Given the description of an element on the screen output the (x, y) to click on. 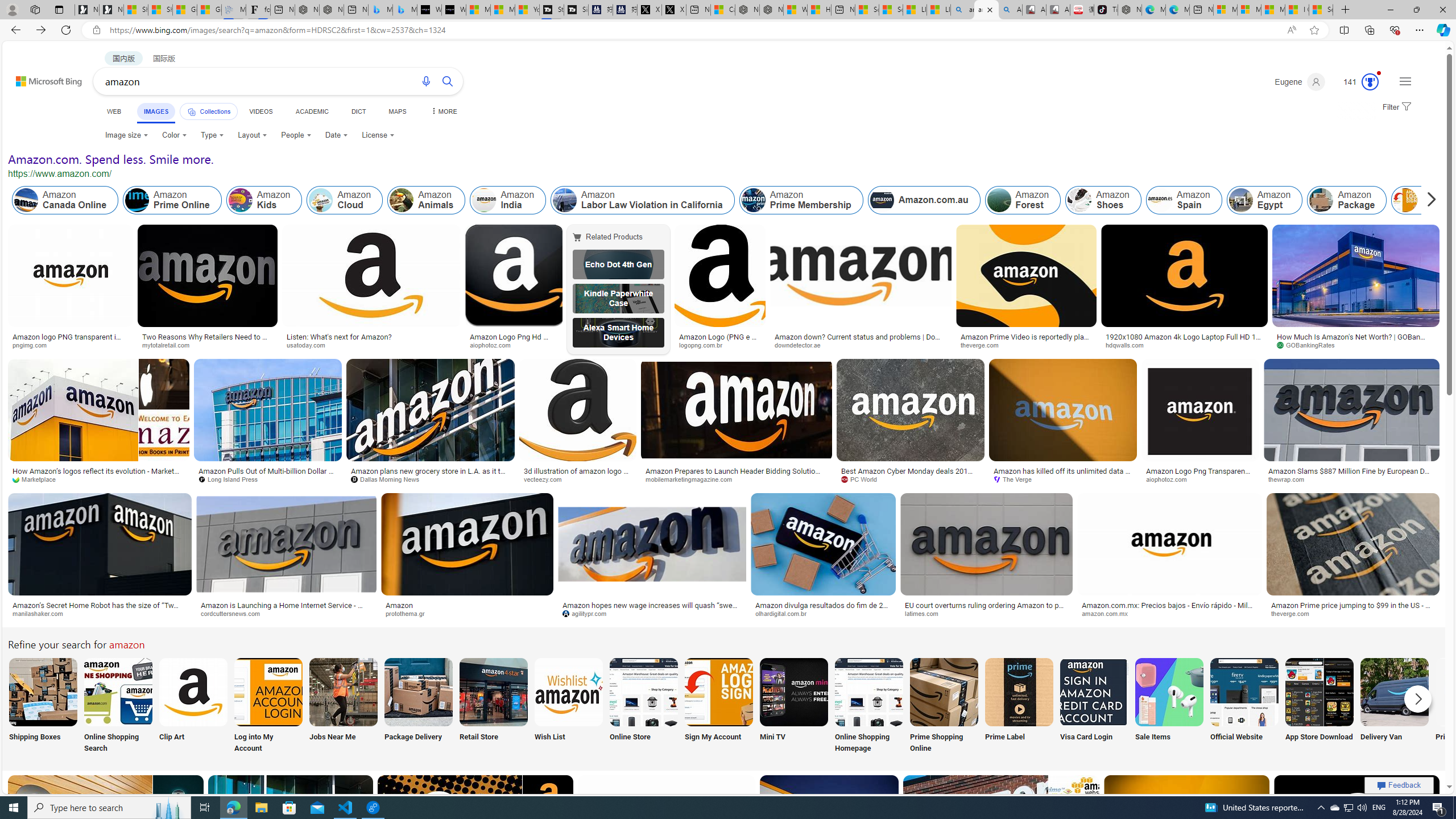
Prime Label (1018, 706)
Best Amazon Cyber Monday deals 2019 | PCWorld (910, 474)
Huge shark washes ashore at New York City beach | Watch (818, 9)
Amazon Mini TV (794, 691)
Image size (127, 135)
amazon.com.mx (1108, 612)
mytotalretail.com (207, 344)
Amazon Package (1346, 199)
Newsletter Sign Up (111, 9)
usatoday.com (370, 344)
